Given the description of an element on the screen output the (x, y) to click on. 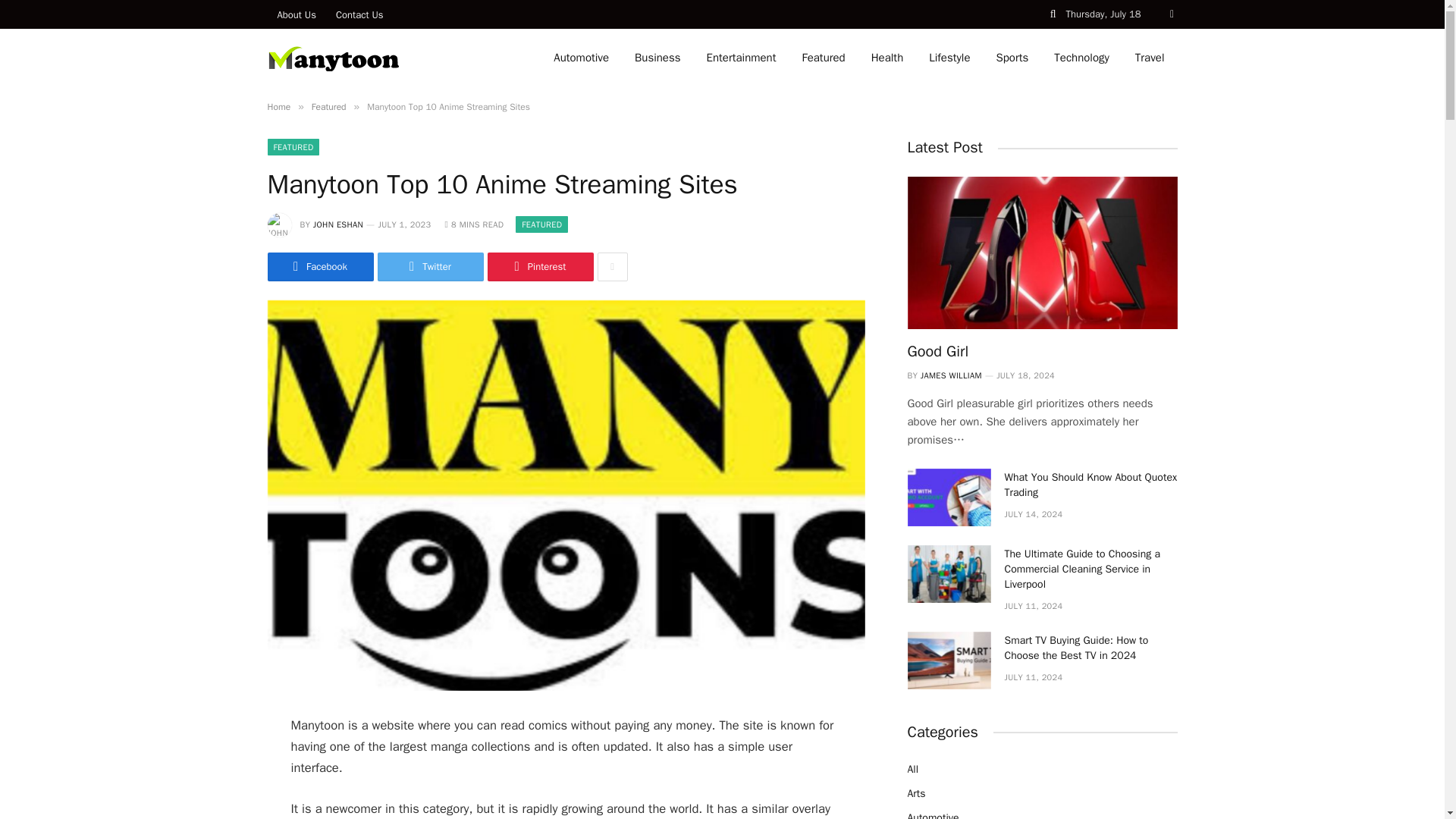
Contact Us (359, 14)
Share on Twitter (430, 266)
Share on Facebook (319, 266)
Business (657, 57)
Entertainment (741, 57)
Switch to Dark Design - easier on eyes. (1170, 14)
Health (888, 57)
About Us (295, 14)
Lifestyle (948, 57)
Posts by John Eshan (337, 224)
Sports (1011, 57)
Automotive (580, 57)
Featured (823, 57)
